Given the description of an element on the screen output the (x, y) to click on. 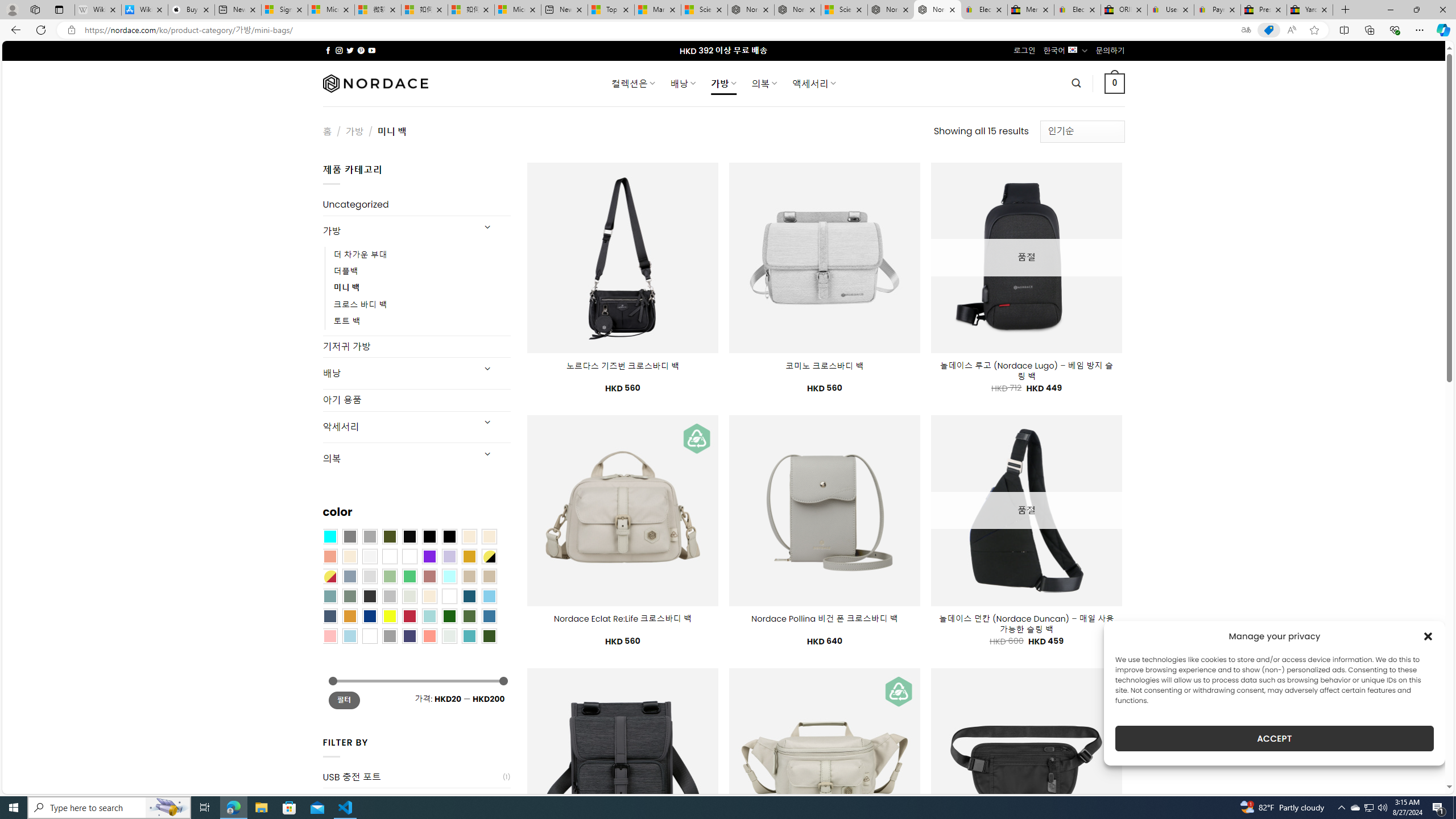
User Privacy Notice | eBay (1170, 9)
  0   (1115, 83)
ACCEPT (1274, 738)
Follow on YouTube (371, 50)
Class: cmplz-close (1428, 636)
